Given the description of an element on the screen output the (x, y) to click on. 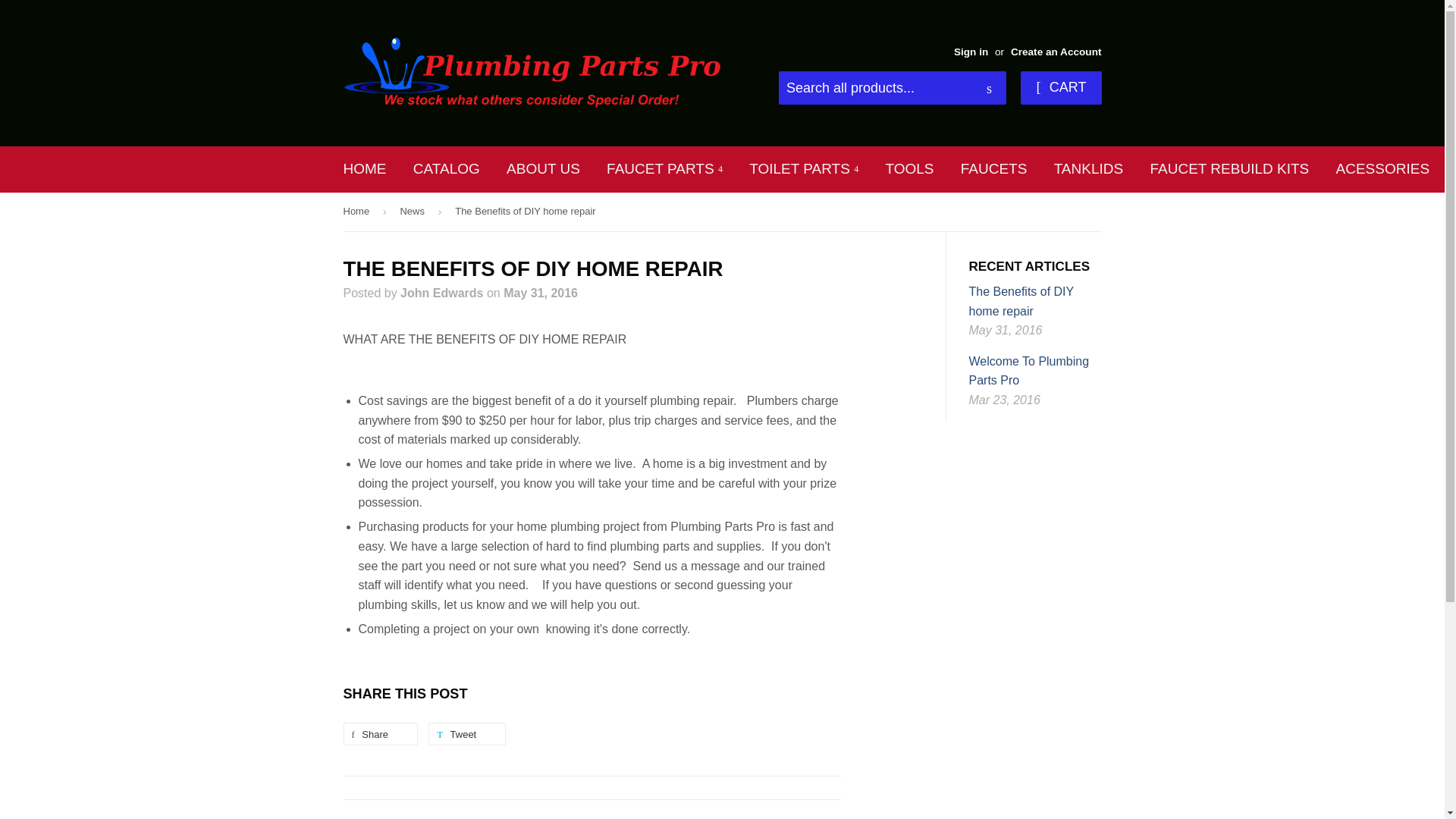
FAUCET PARTS (664, 168)
Search (989, 88)
ABOUT US (543, 168)
TOOLS (908, 168)
HOME (364, 168)
Welcome To Plumbing Parts Pro (1029, 370)
CART (1060, 87)
Tweet (466, 733)
CATALOG (446, 168)
Create an Account (1056, 51)
TOILET PARTS (803, 168)
Share (379, 733)
The Benefits of DIY home repair (1021, 301)
ACESSORIES (1382, 168)
TANKLIDS (1088, 168)
